Given the description of an element on the screen output the (x, y) to click on. 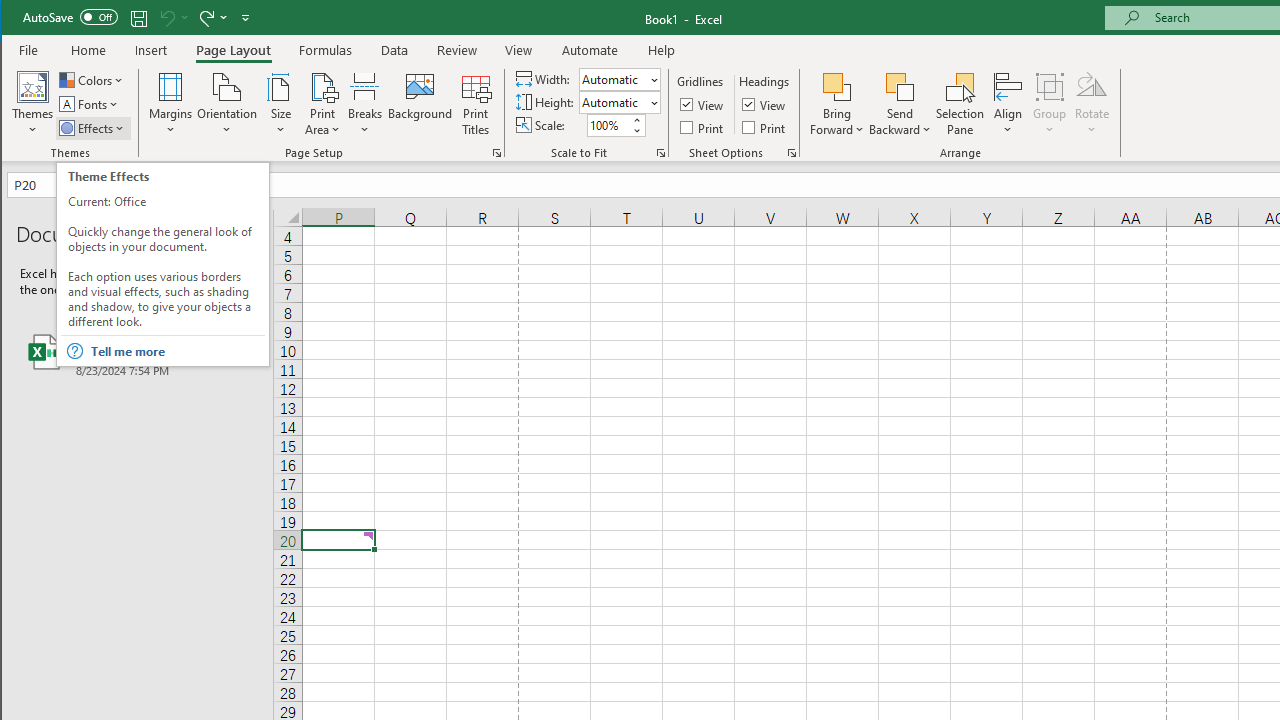
Send Backward (900, 104)
Group (1050, 104)
Breaks (365, 104)
Less (636, 130)
Themes (33, 104)
Width (619, 78)
Background... (420, 104)
Tell me more (176, 351)
Orientation (226, 104)
Bring Forward (836, 86)
Sheet Options (791, 152)
